Given the description of an element on the screen output the (x, y) to click on. 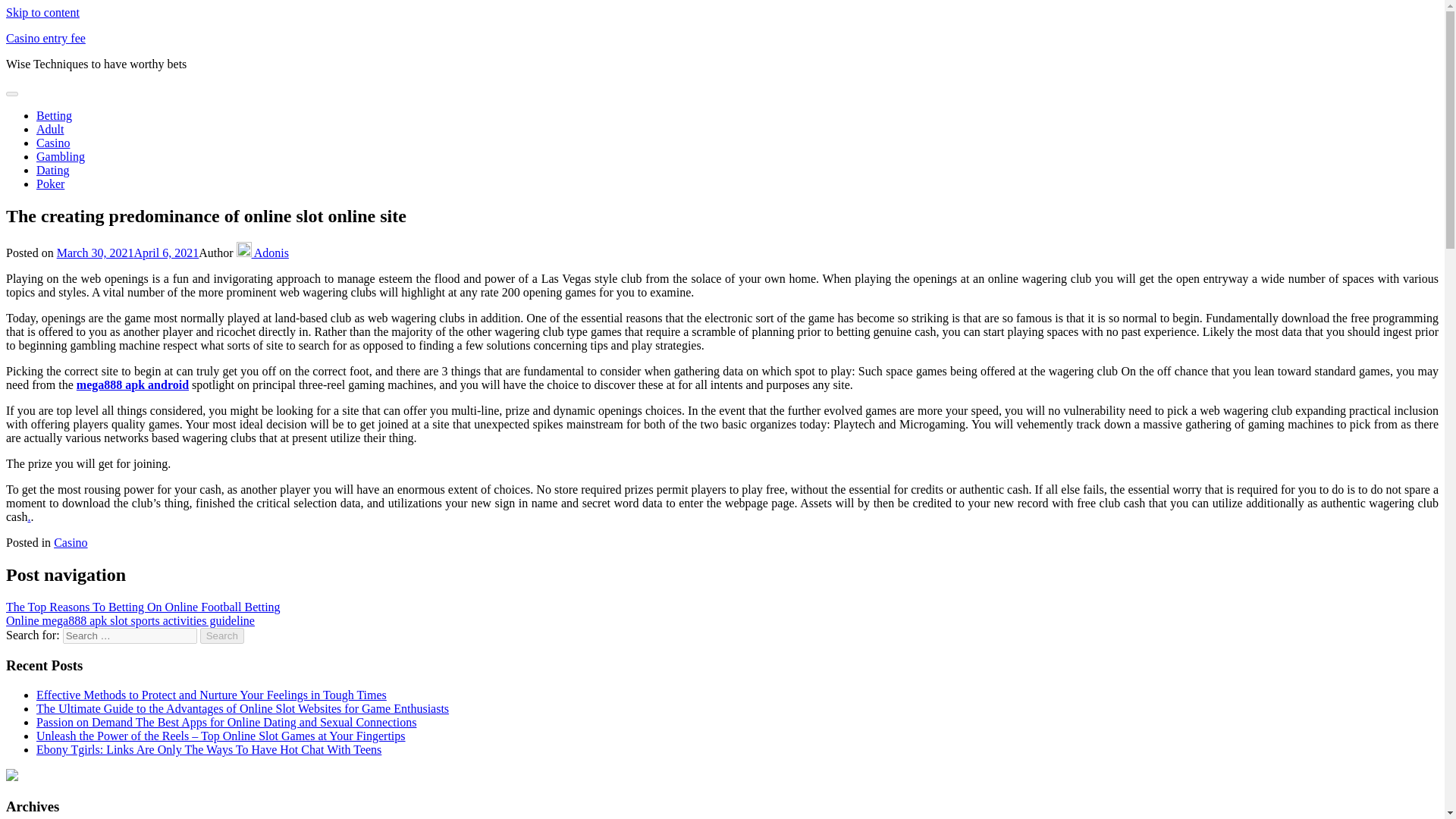
Skip to content (42, 11)
Dating (52, 169)
. (28, 516)
The Top Reasons To Betting On Online Football Betting (143, 606)
Search (222, 635)
Gambling (60, 155)
Poker (50, 183)
mega888 apk android (133, 384)
March 30, 2021April 6, 2021 (127, 252)
Casino entry fee (45, 38)
Adonis (261, 252)
Betting (53, 115)
